Given the description of an element on the screen output the (x, y) to click on. 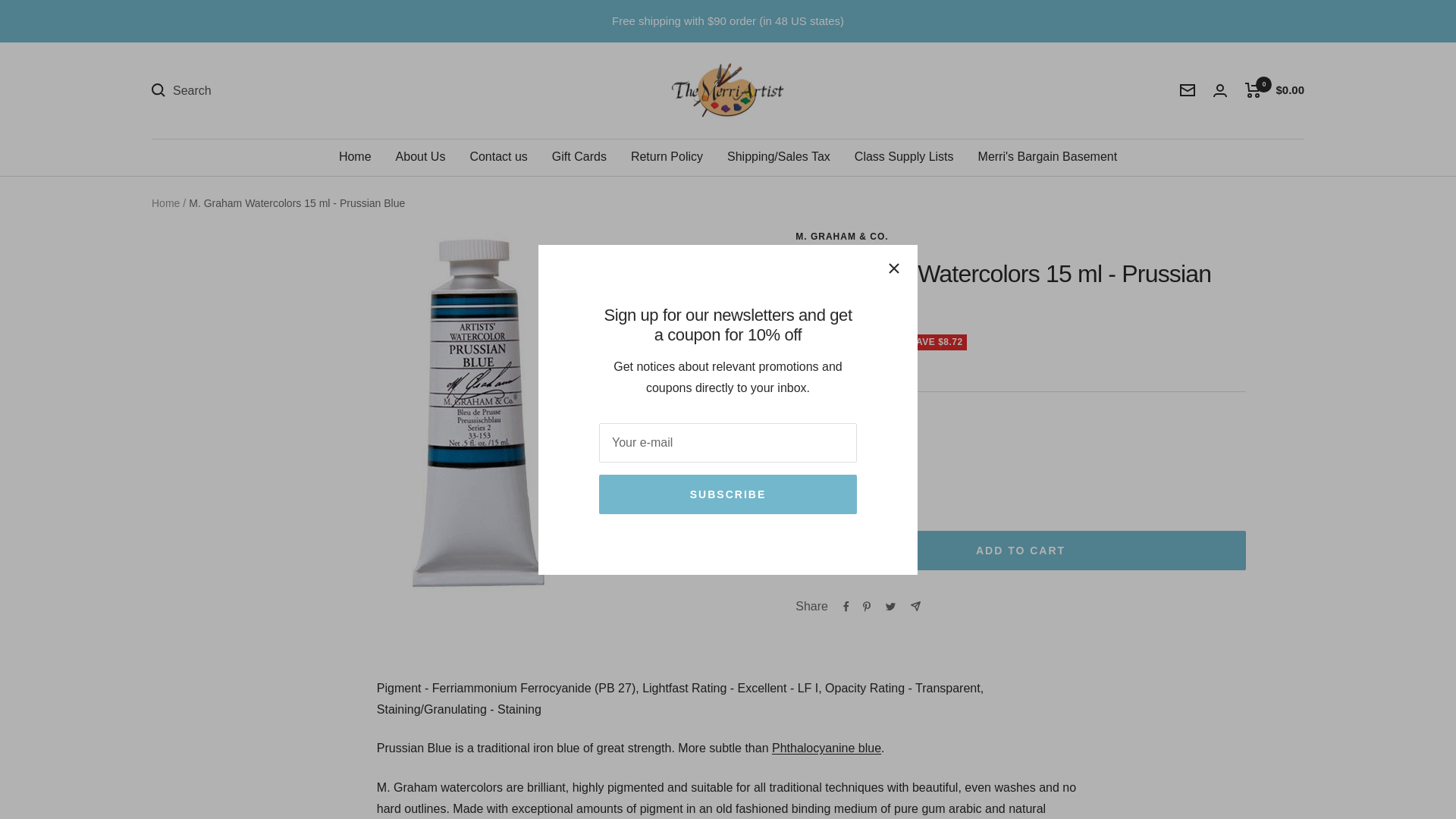
SUBSCRIBE (727, 493)
Newsletter (1187, 90)
Phthalocyanine blue (825, 748)
The Merri Artist - merriartist.com (727, 90)
1 (850, 454)
Home (355, 156)
Decrease quantity (813, 454)
Merri's Bargain Basement (1048, 156)
Increase quantity (886, 454)
Class Supply Lists (903, 156)
0 (1252, 89)
ADD TO CART (1020, 550)
Contact us (497, 156)
Return Policy (666, 156)
About Us (420, 156)
